Given the description of an element on the screen output the (x, y) to click on. 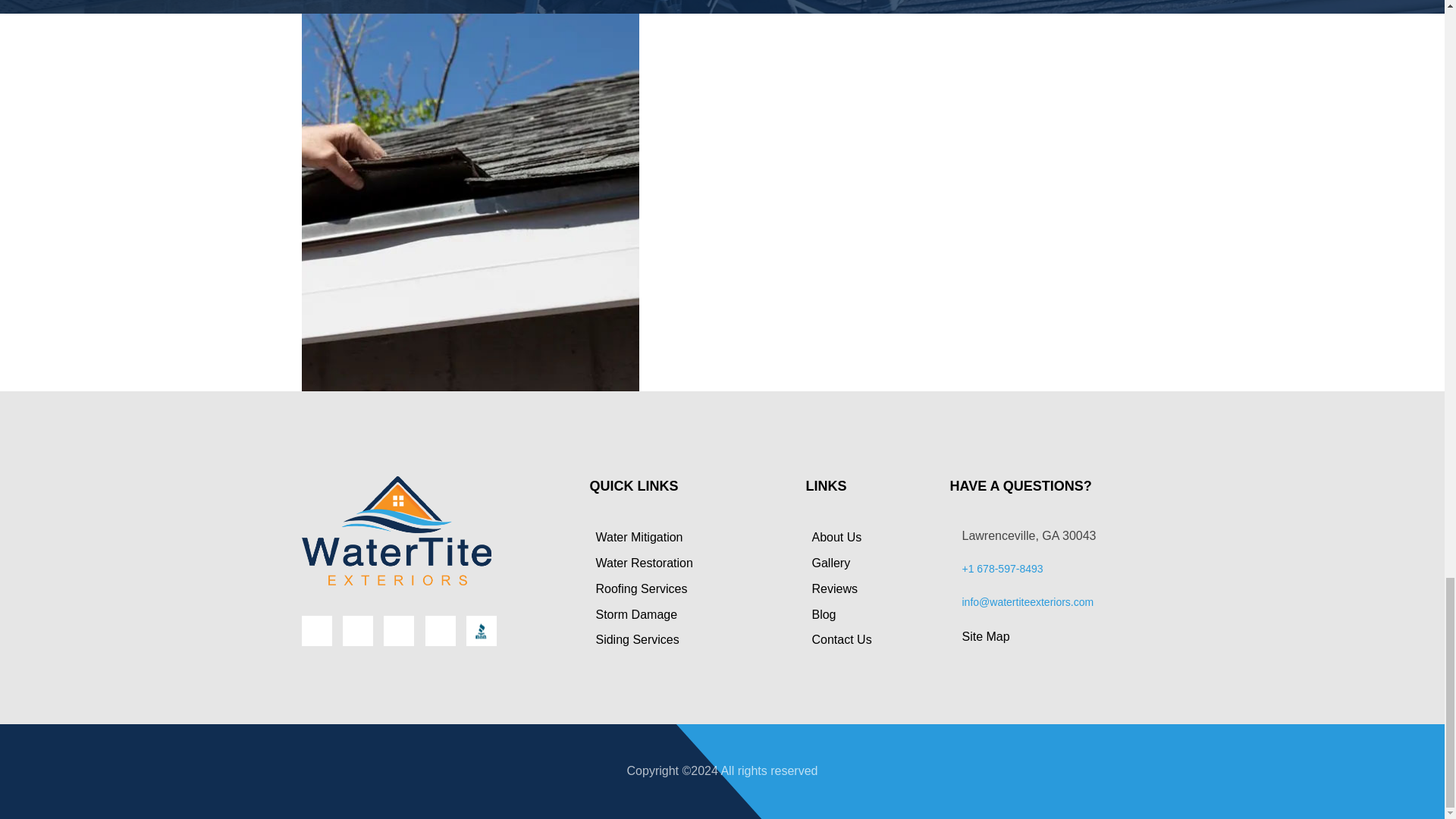
Water Mitigation (635, 536)
